Given the description of an element on the screen output the (x, y) to click on. 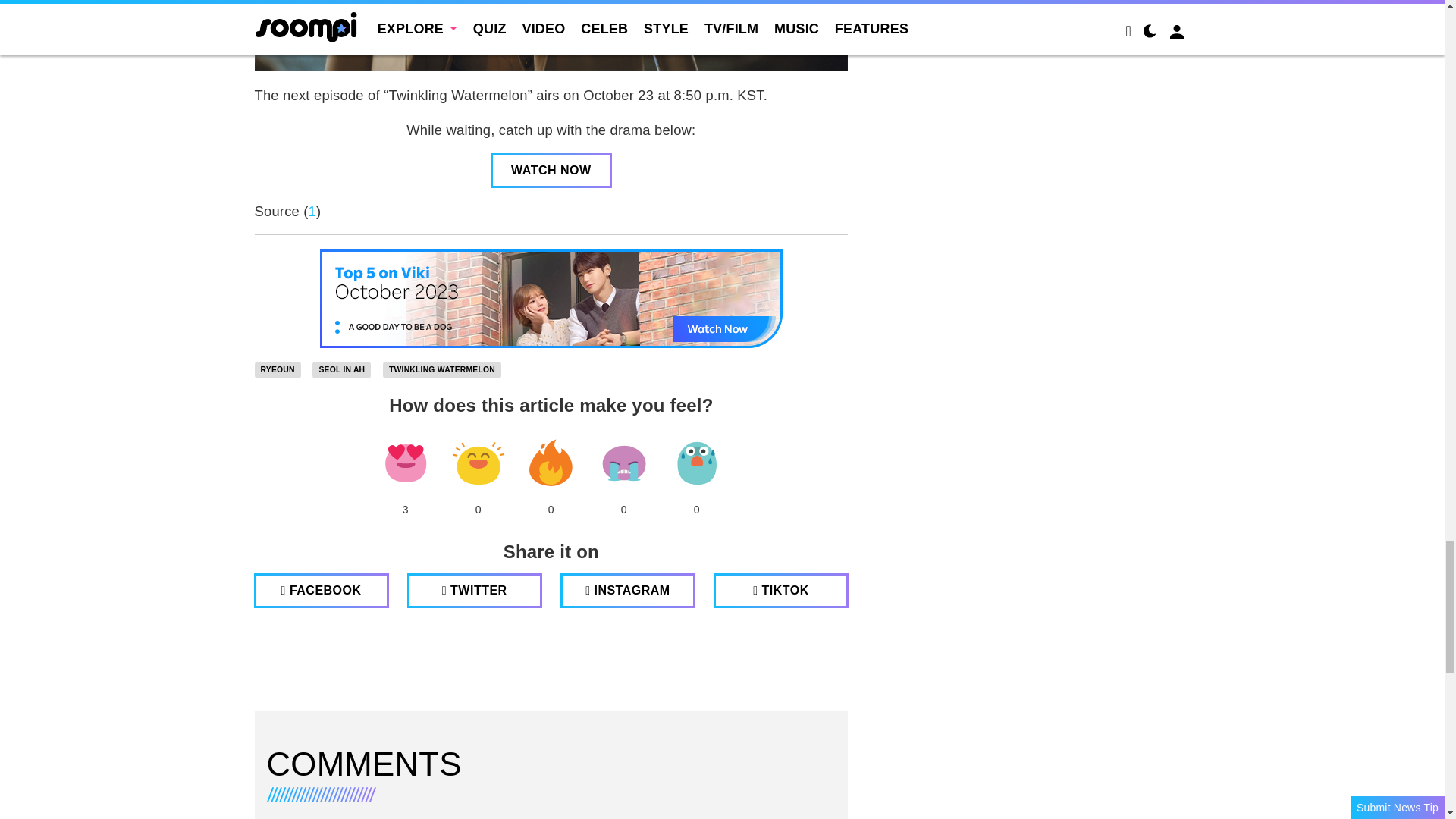
TWINKLING WATERMELON (441, 369)
LOL (478, 463)
Crying (623, 463)
Seol In Ah (342, 369)
WATCH NOW (550, 170)
Heart (405, 463)
Ryeoun (277, 369)
Twinkling Watermelon (441, 369)
OMG (696, 463)
RYEOUN (277, 369)
SEOL IN AH (342, 369)
Fire (550, 463)
